Given the description of an element on the screen output the (x, y) to click on. 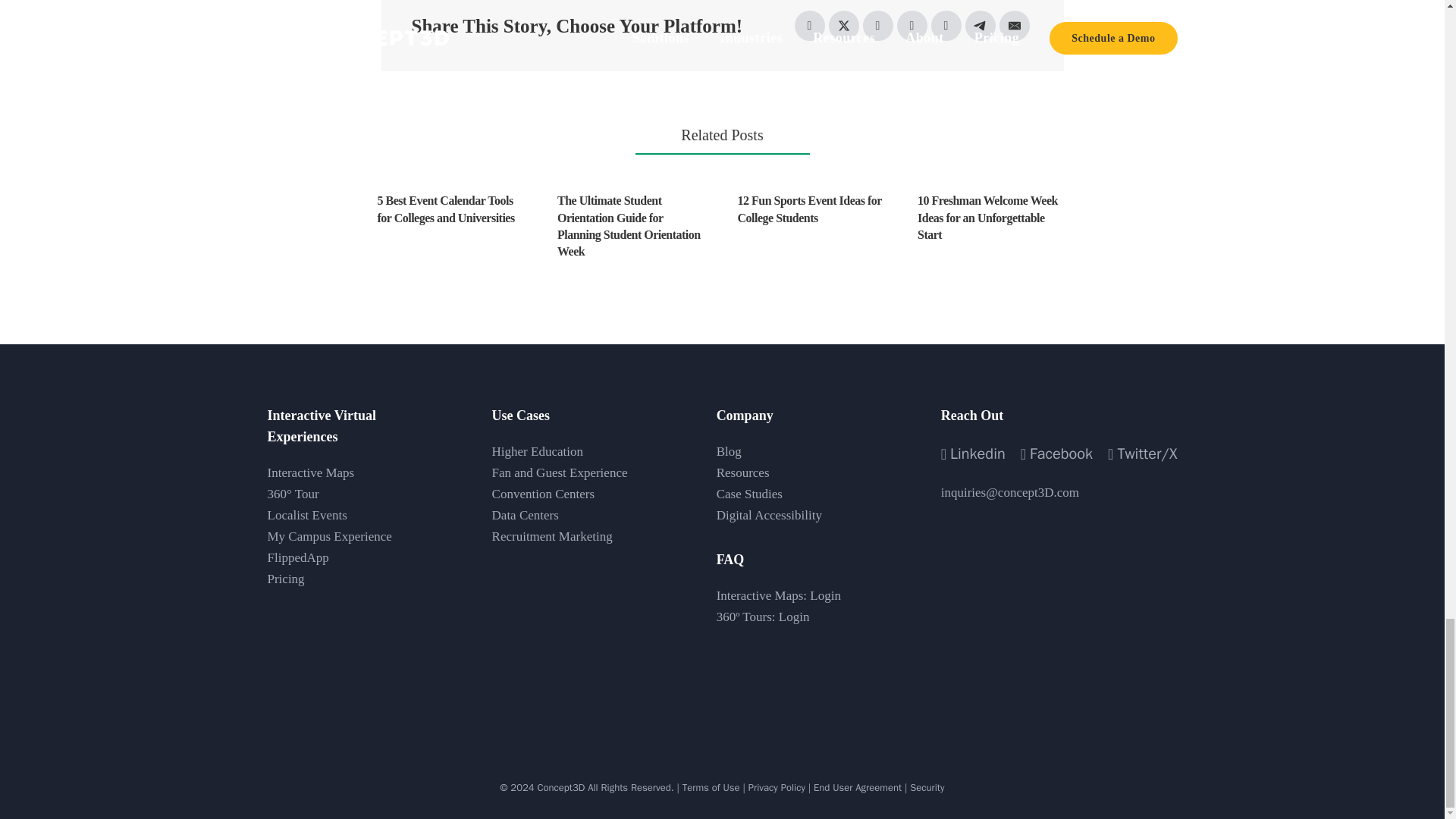
Visit Concept3D on Facebook (1056, 453)
Visit Concept3D on Twitter (1142, 453)
Visit Concept3D on LinkedIn (973, 453)
